Given the description of an element on the screen output the (x, y) to click on. 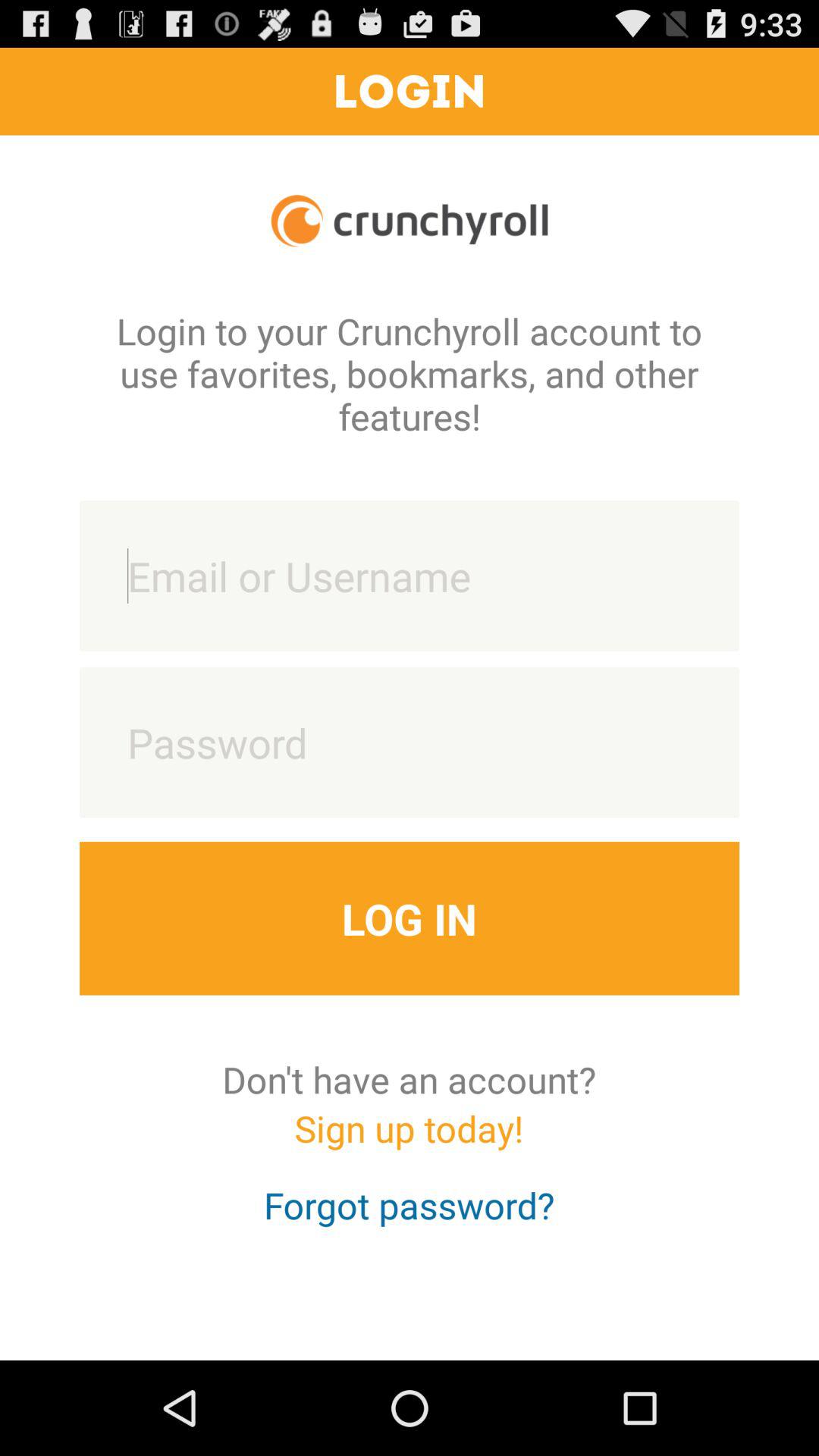
click don t have icon (409, 1079)
